Given the description of an element on the screen output the (x, y) to click on. 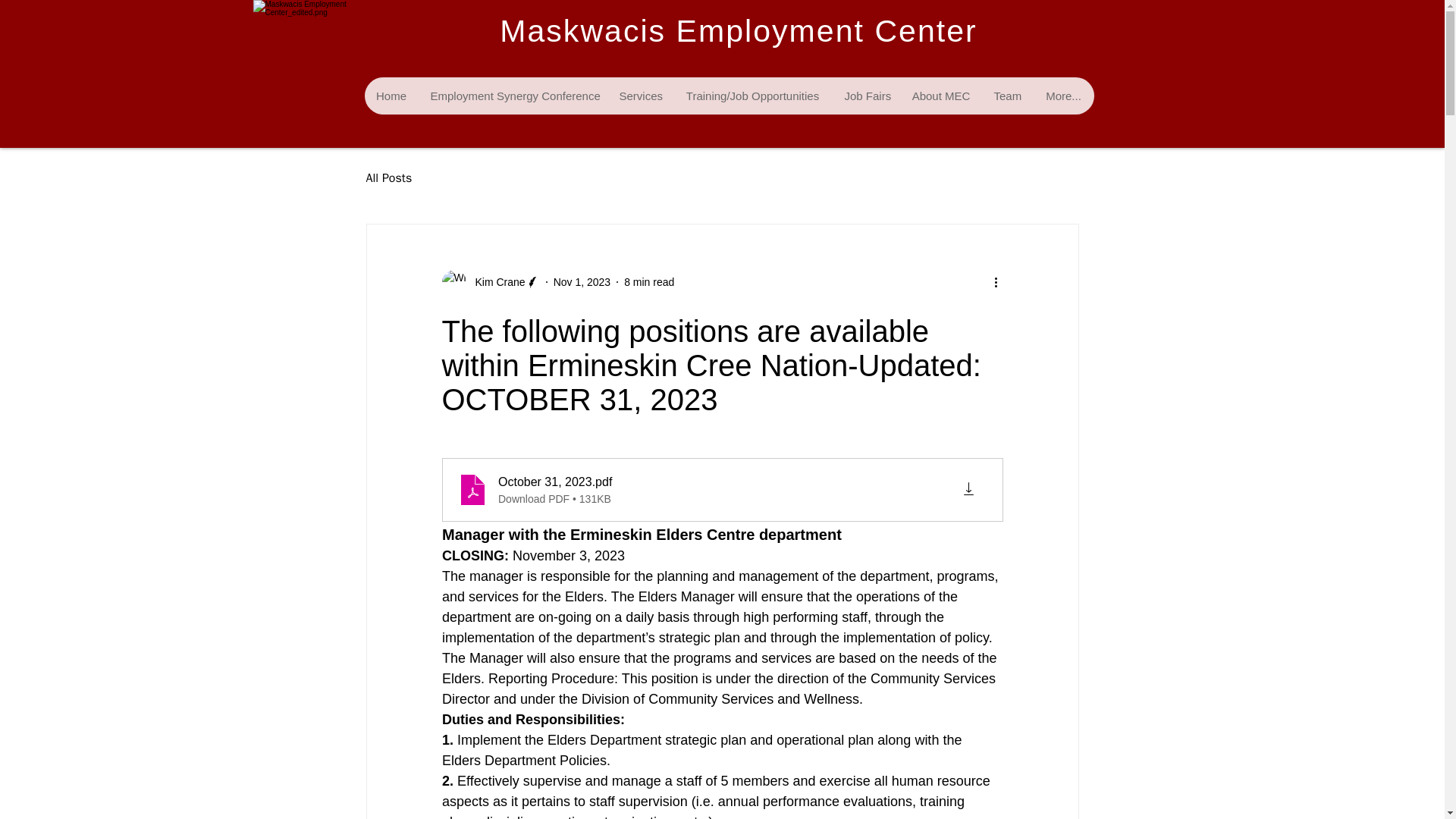
Services (639, 95)
Team (1006, 95)
All Posts (388, 178)
About MEC (940, 95)
Job Fairs (865, 95)
Employment Synergy Conference (513, 95)
8 min read (649, 282)
Home (390, 95)
Kim Crane (494, 282)
Nov 1, 2023 (582, 282)
Kim Crane (489, 282)
